Given the description of an element on the screen output the (x, y) to click on. 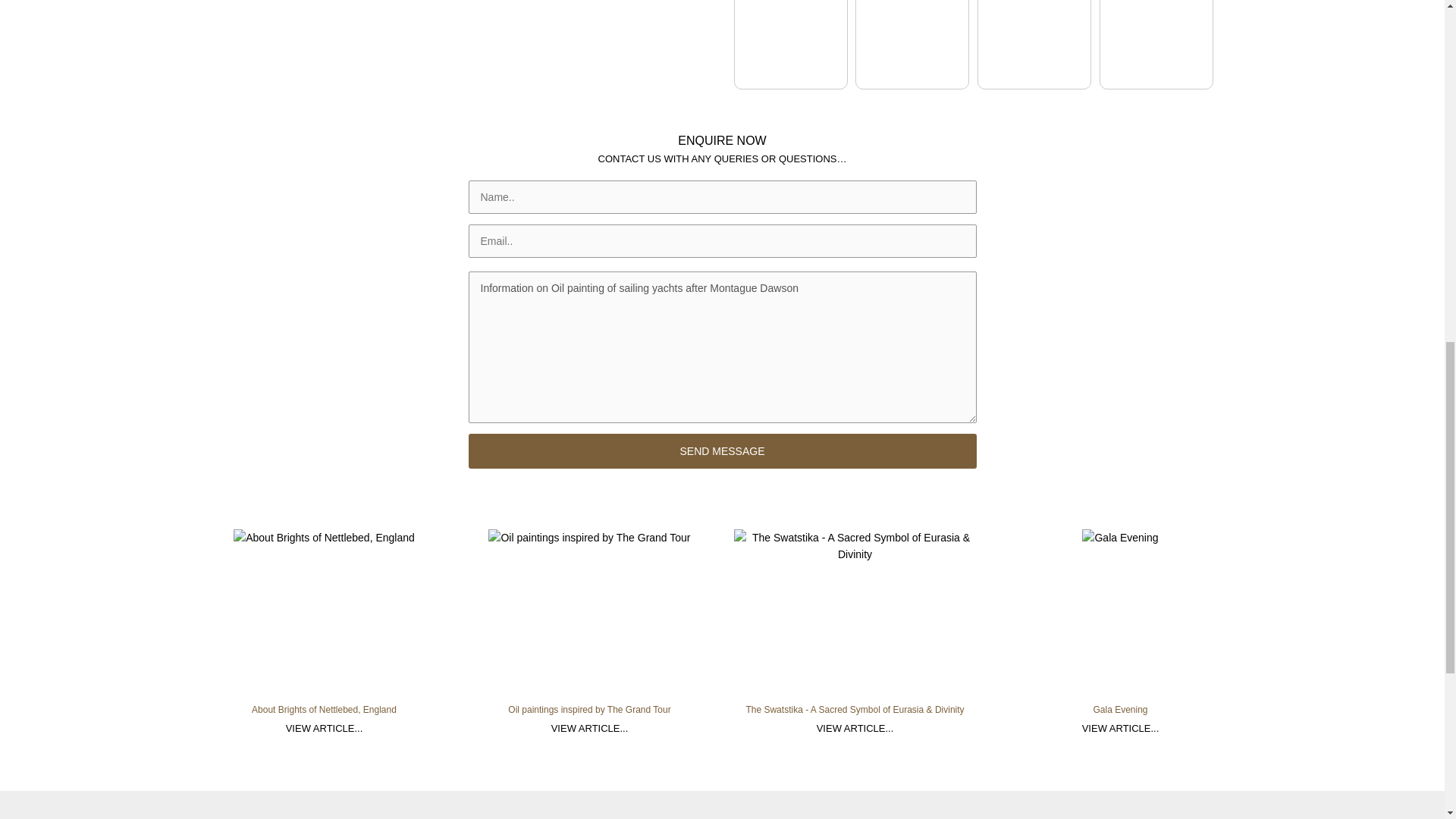
VIEW ARTICLE... (324, 728)
VIEW ARTICLE... (854, 728)
SEND MESSAGE (722, 451)
VIEW ARTICLE... (1119, 728)
VIEW ARTICLE... (589, 728)
